Given the description of an element on the screen output the (x, y) to click on. 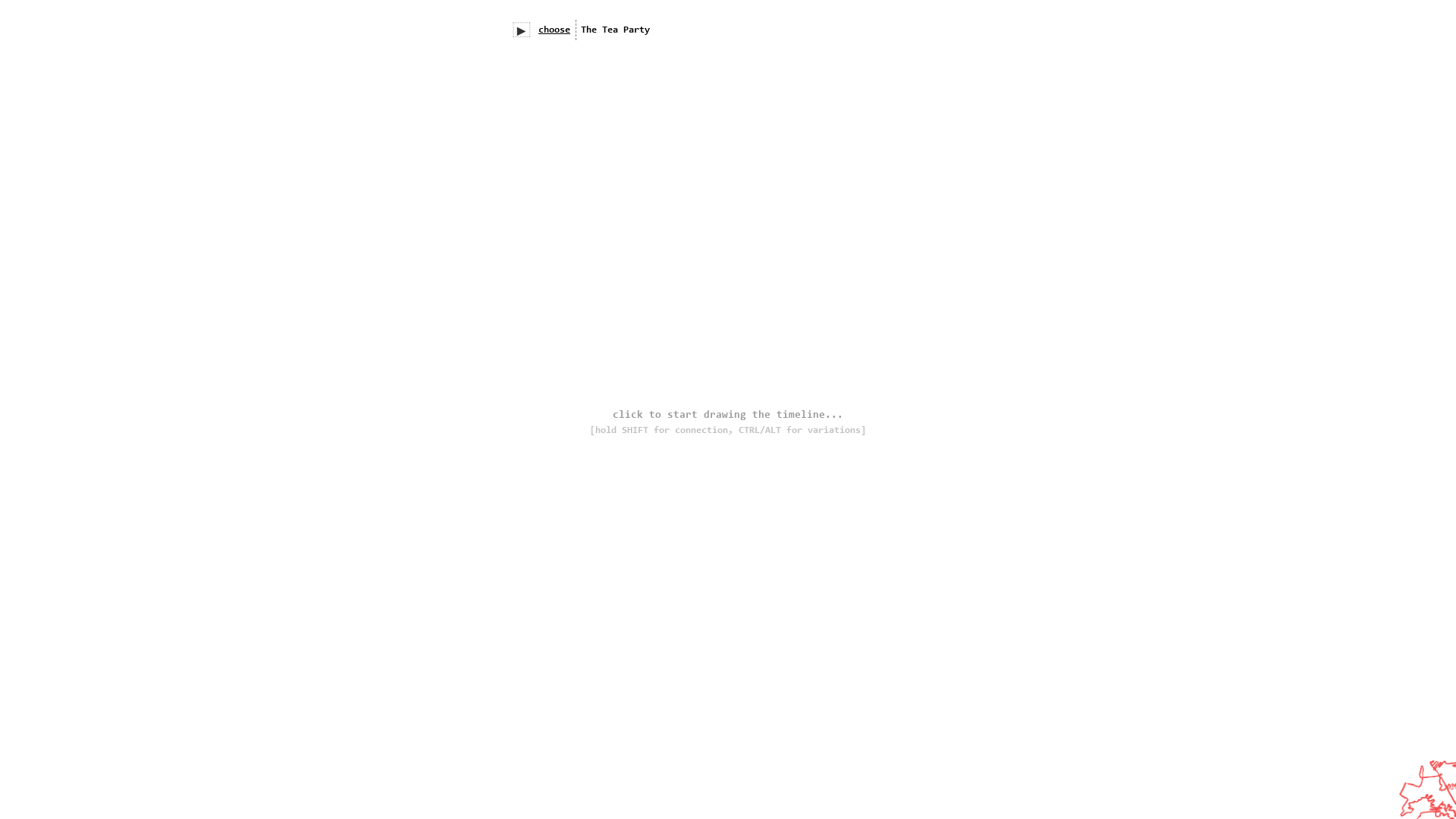
menu/search Element type: hover (757, 29)
